Given the description of an element on the screen output the (x, y) to click on. 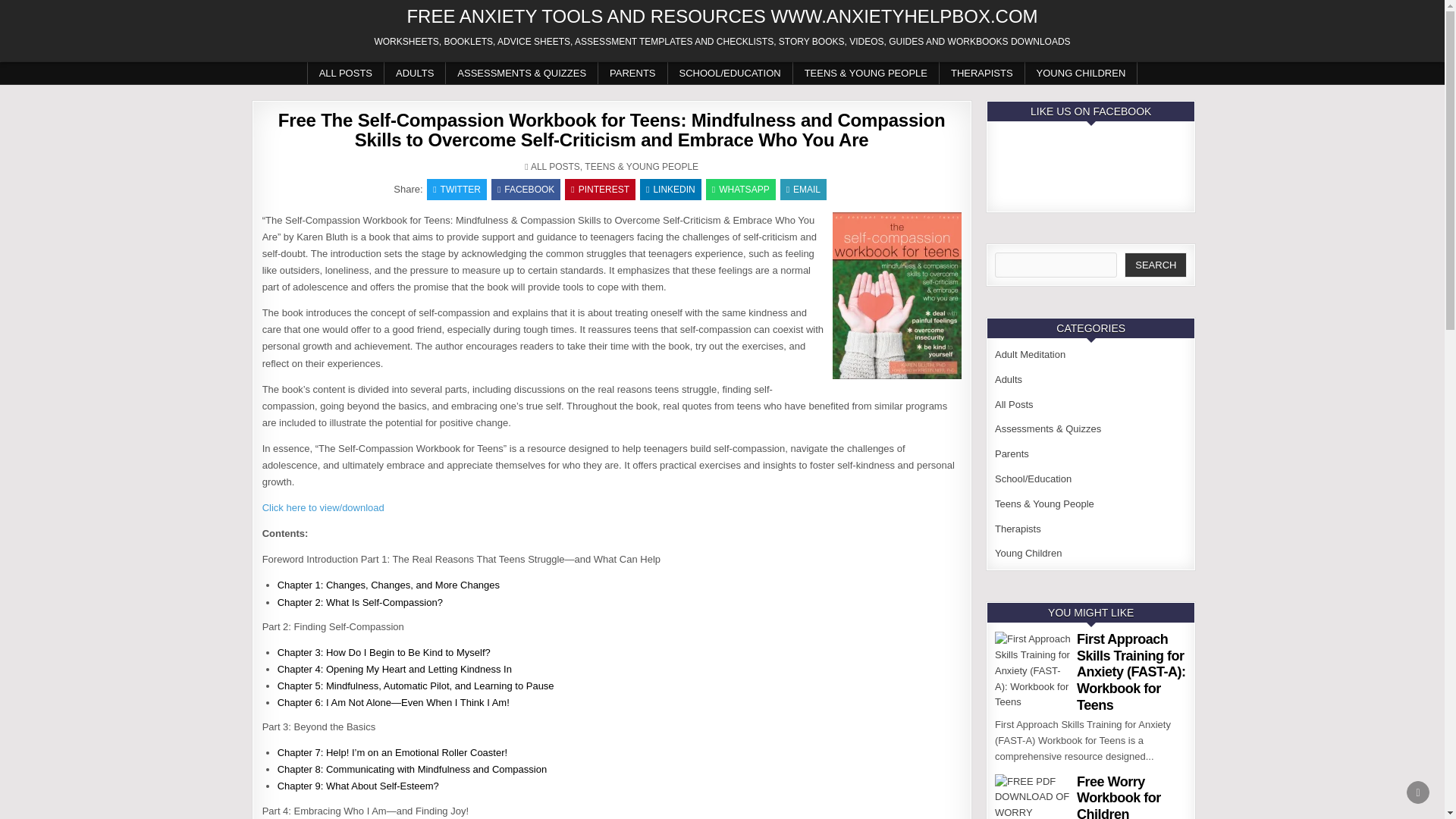
FACEBOOK (526, 189)
SCROLL TO TOP (1417, 792)
EMAIL (803, 189)
THERAPISTS (982, 73)
PINTEREST (599, 189)
Share this on Linkedin (670, 189)
ALL POSTS (555, 166)
Share this on Pinterest (599, 189)
ADULTS (414, 73)
Share this on Facebook (526, 189)
